Given the description of an element on the screen output the (x, y) to click on. 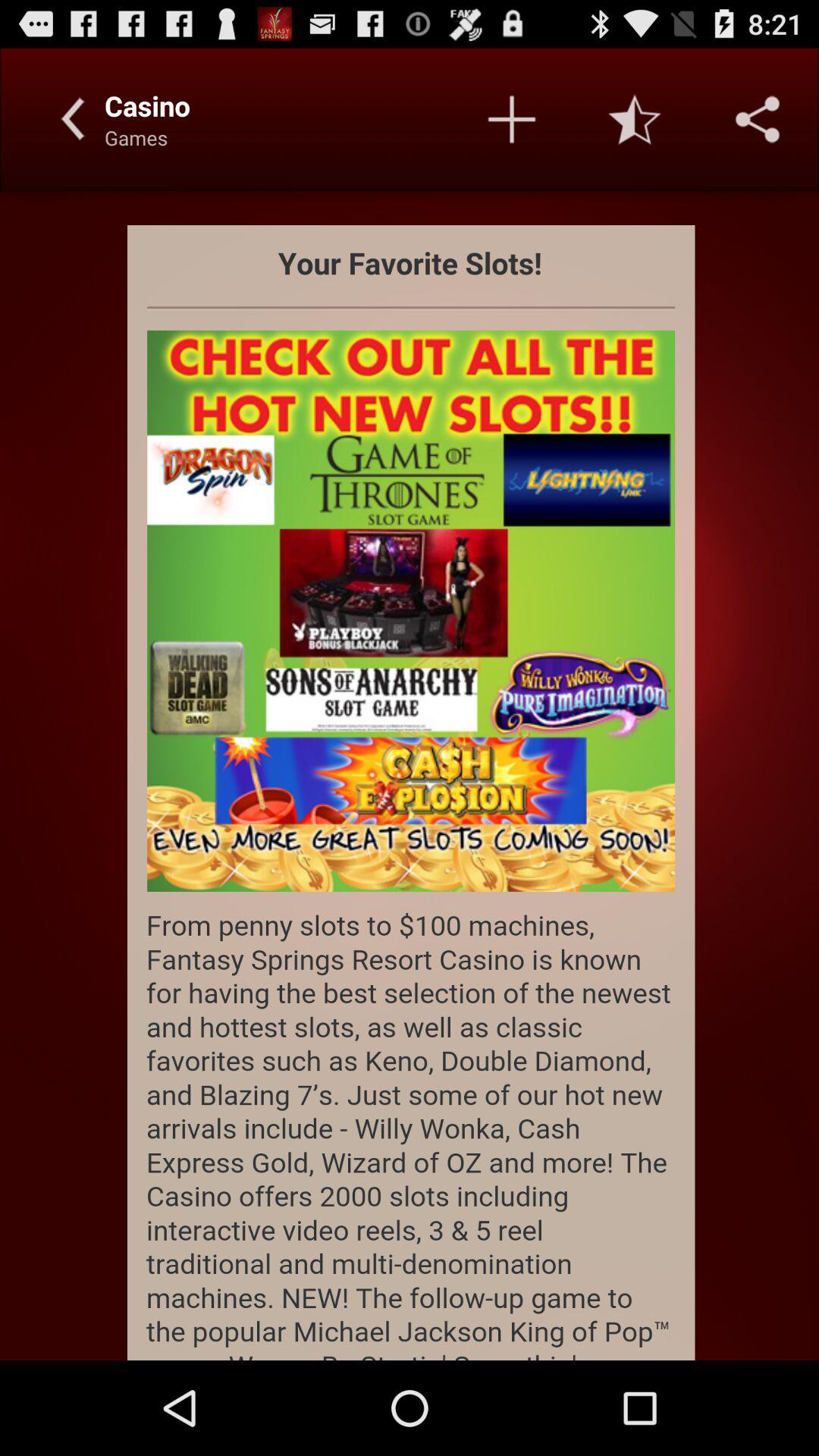
star option (634, 119)
